Given the description of an element on the screen output the (x, y) to click on. 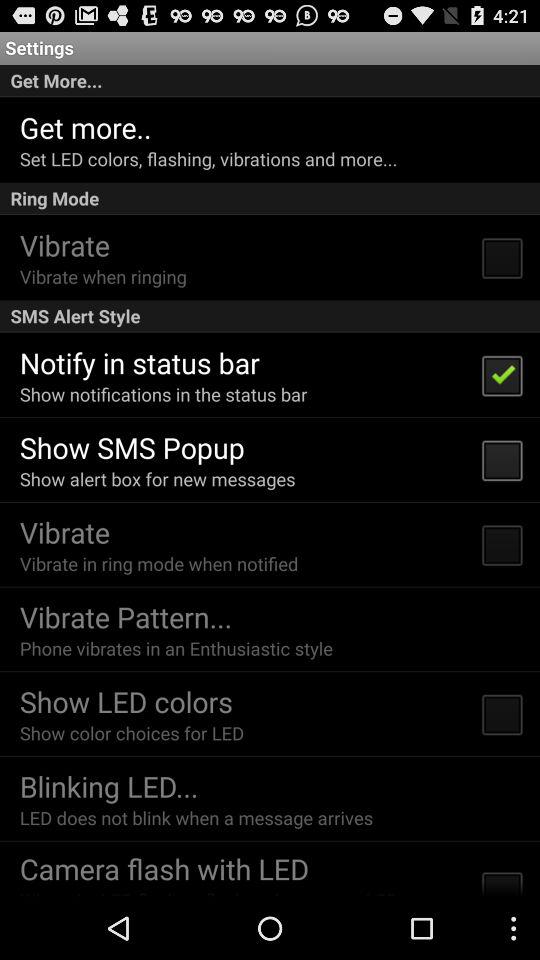
turn off item below the vibrate in ring icon (125, 616)
